Given the description of an element on the screen output the (x, y) to click on. 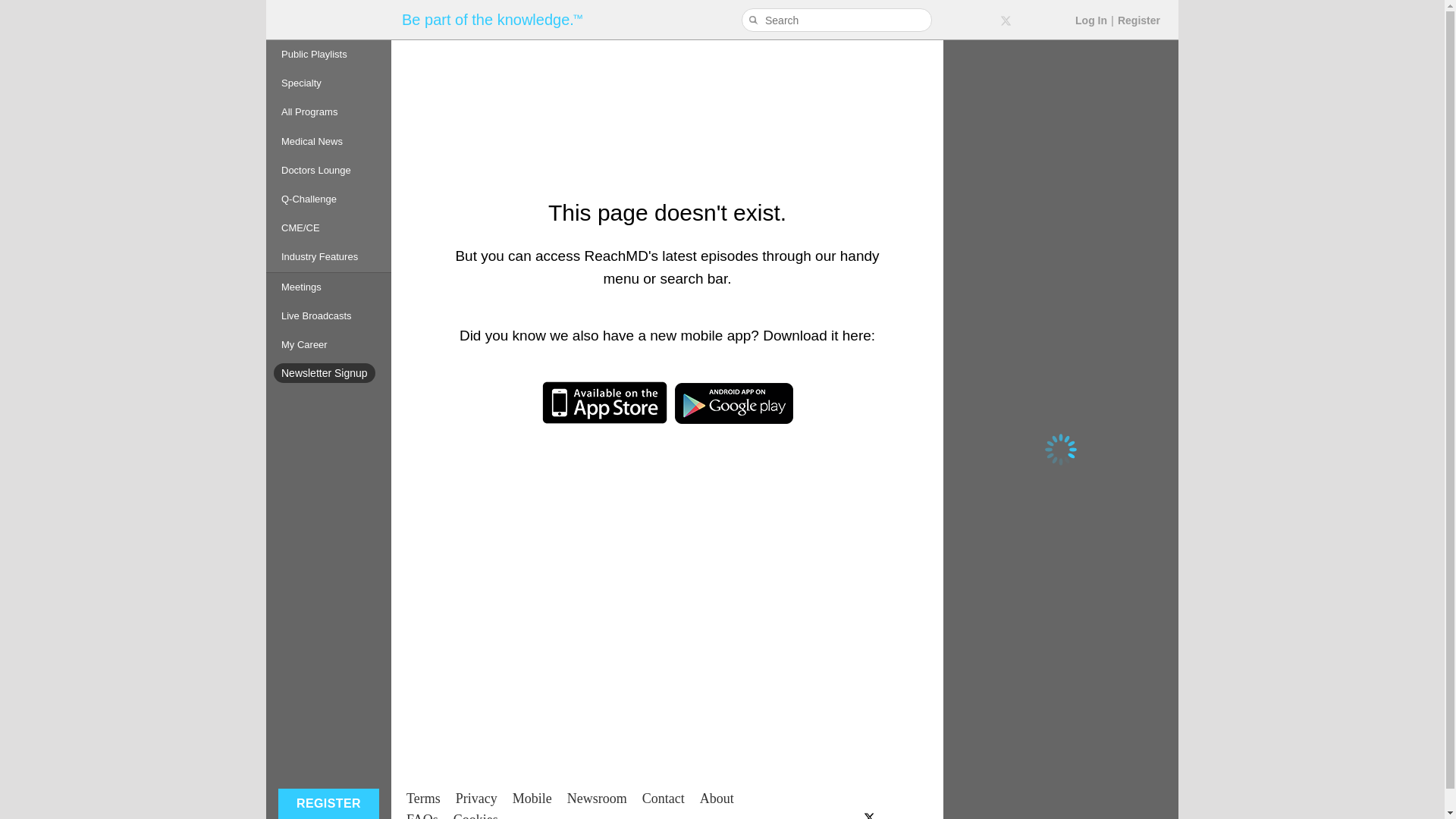
Twitter (1004, 19)
Public Playlists (328, 54)
Instagram (1055, 19)
Facebook (980, 19)
Search (754, 20)
Log In (1090, 20)
Register (1139, 20)
Specialty (328, 82)
ReachMD (328, 20)
All Programs (328, 111)
